Given the description of an element on the screen output the (x, y) to click on. 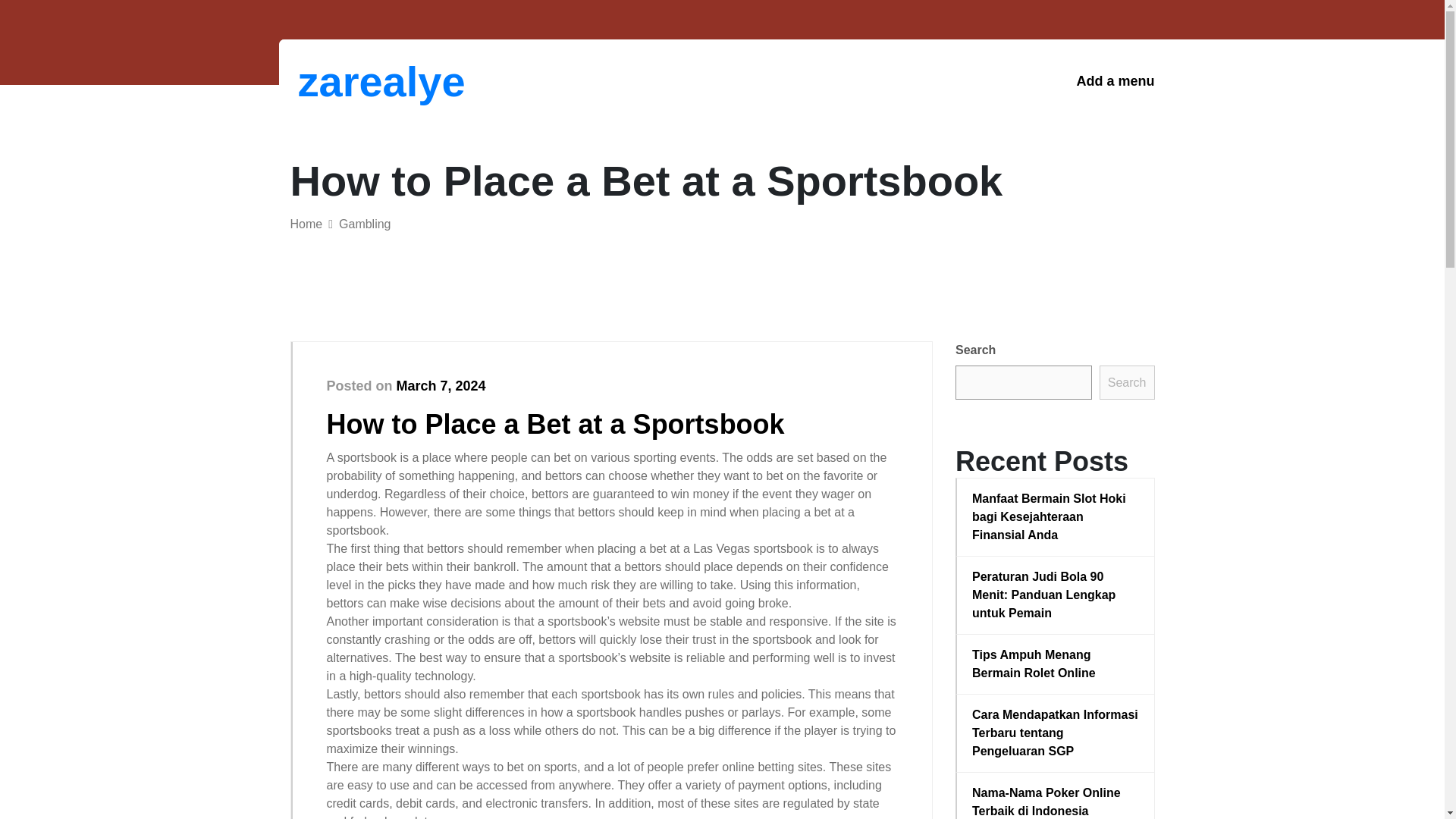
Cara Mendapatkan Informasi Terbaru tentang Pengeluaran SGP (1055, 732)
zarealye (376, 81)
Gambling (364, 223)
Add a menu (1114, 81)
Home (305, 223)
Nama-Nama Poker Online Terbaik di Indonesia (1055, 801)
March 7, 2024 (441, 385)
How to Place a Bet at a Sportsbook (555, 423)
Search (1126, 382)
Manfaat Bermain Slot Hoki bagi Kesejahteraan Finansial Anda (1055, 516)
